Given the description of an element on the screen output the (x, y) to click on. 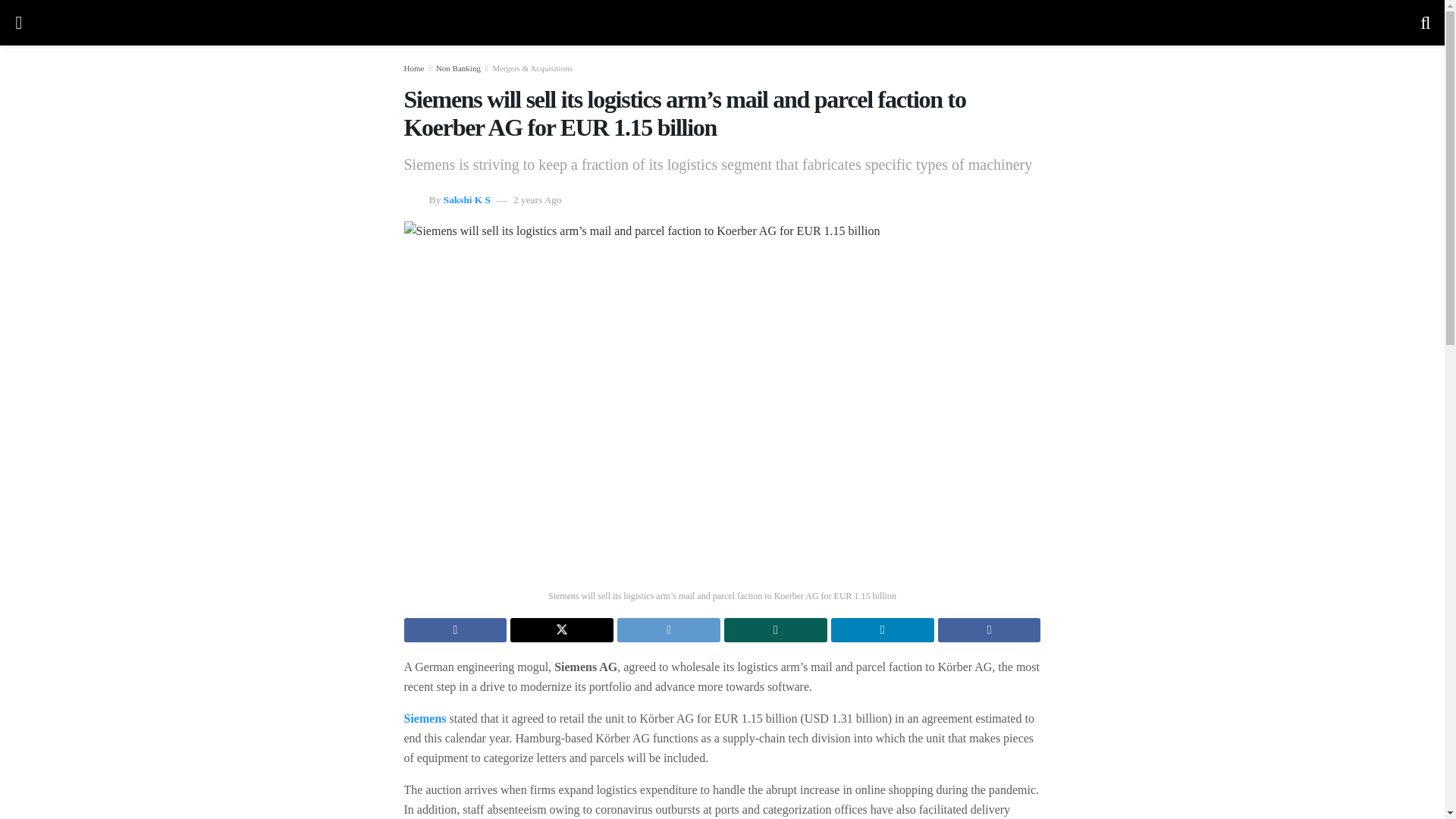
Sakshi K S (467, 199)
Siemens (424, 717)
Home (413, 67)
Non Banking (457, 67)
